Given the description of an element on the screen output the (x, y) to click on. 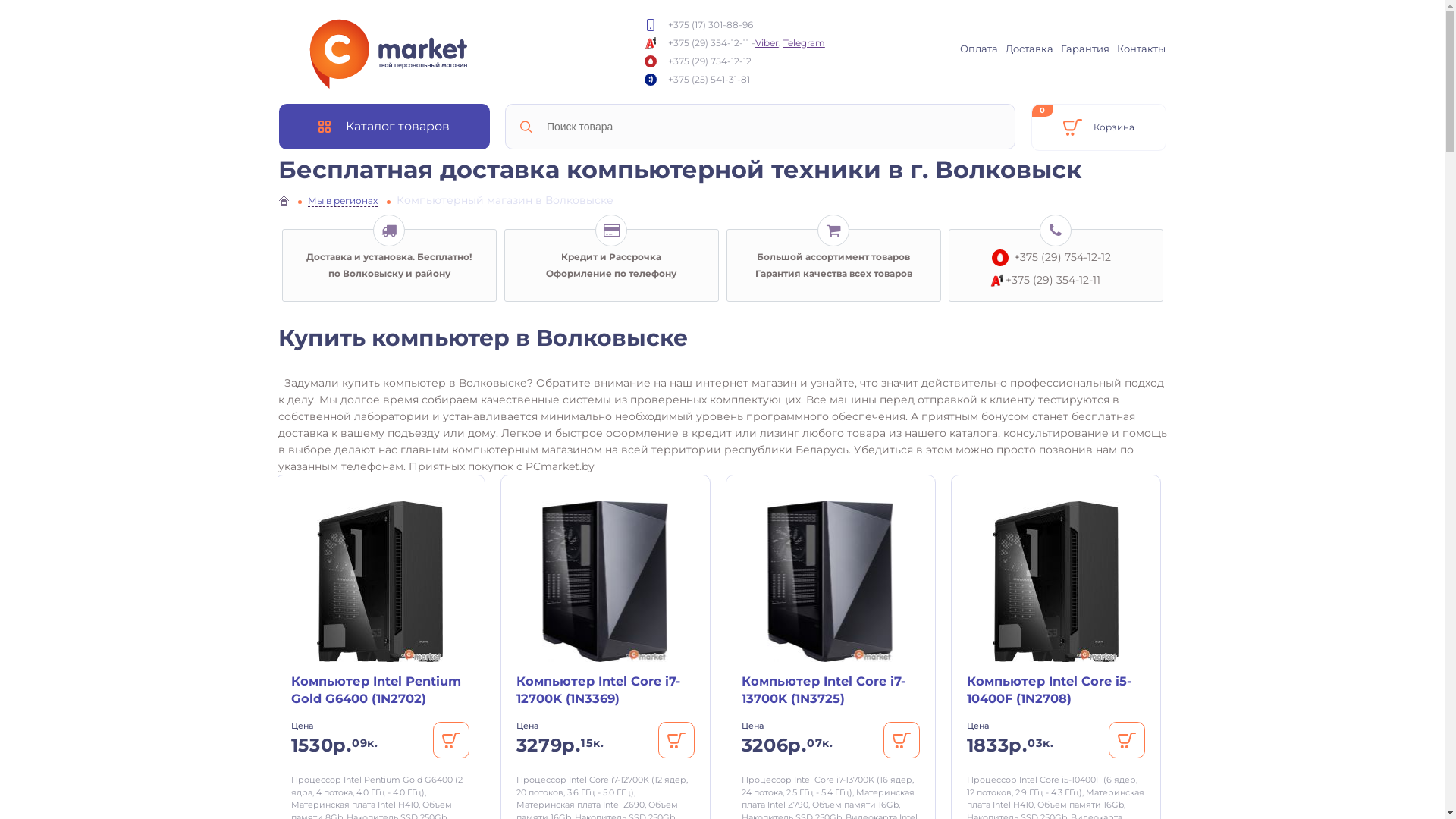
Telegram Element type: text (804, 41)
Viber Element type: text (766, 41)
